Given the description of an element on the screen output the (x, y) to click on. 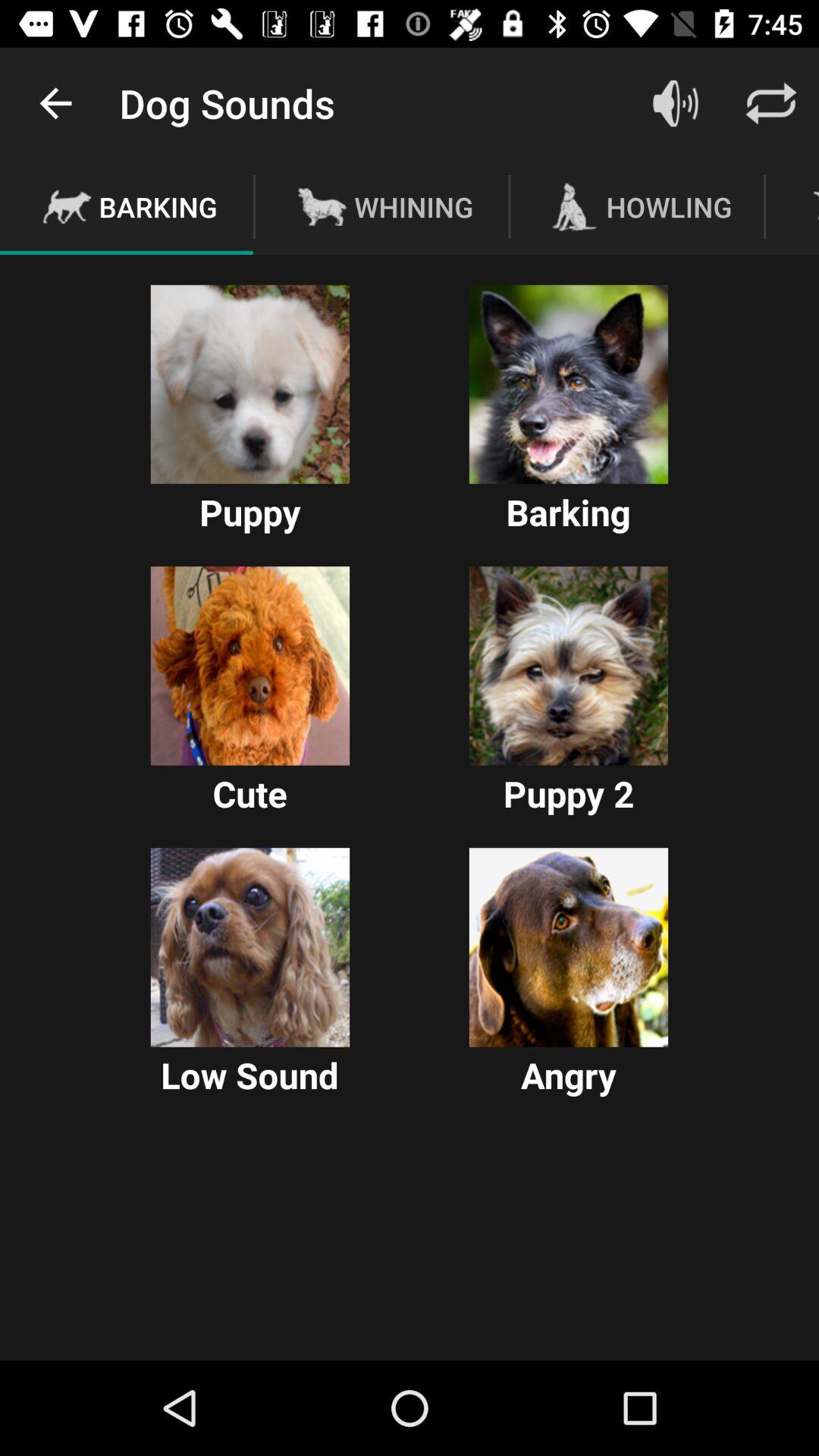
play sound (249, 947)
